Given the description of an element on the screen output the (x, y) to click on. 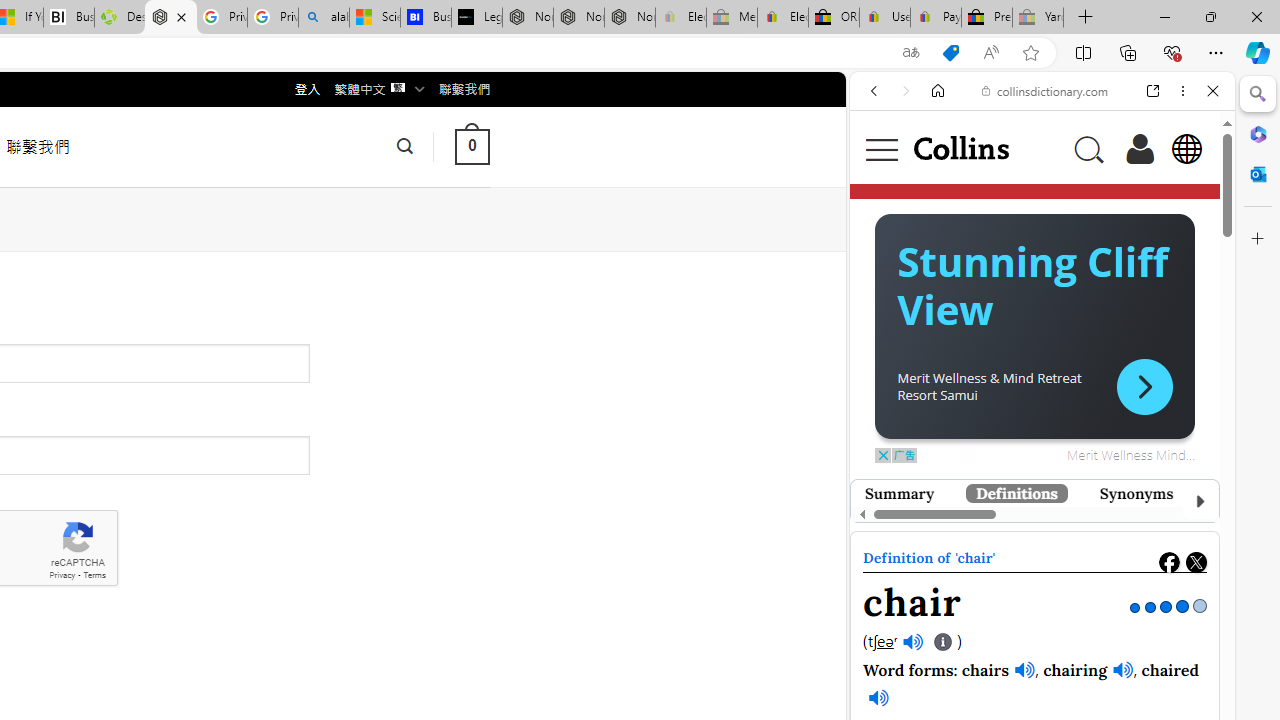
chairman (1073, 615)
Payments Terms of Use | eBay.com (936, 17)
Log In (1140, 148)
IPA Pronunciation Guide (943, 642)
Define (1150, 323)
